Given the description of an element on the screen output the (x, y) to click on. 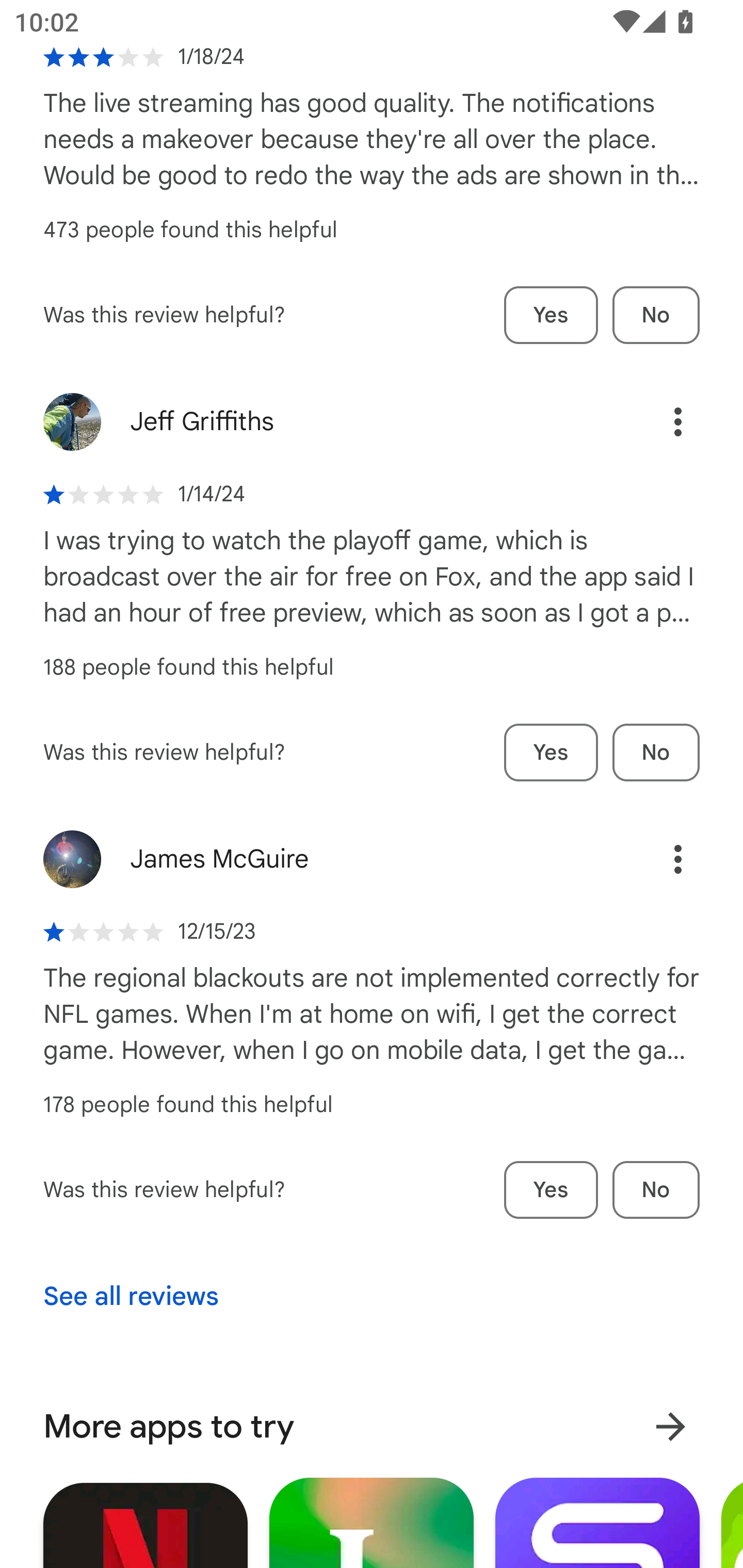
Yes (550, 315)
No (655, 315)
Options (655, 421)
Yes (550, 752)
No (655, 752)
Options (655, 859)
Yes (550, 1190)
No (655, 1190)
See all reviews (130, 1296)
More apps to try More results for More apps to try (371, 1426)
More results for More apps to try (670, 1426)
